Given the description of an element on the screen output the (x, y) to click on. 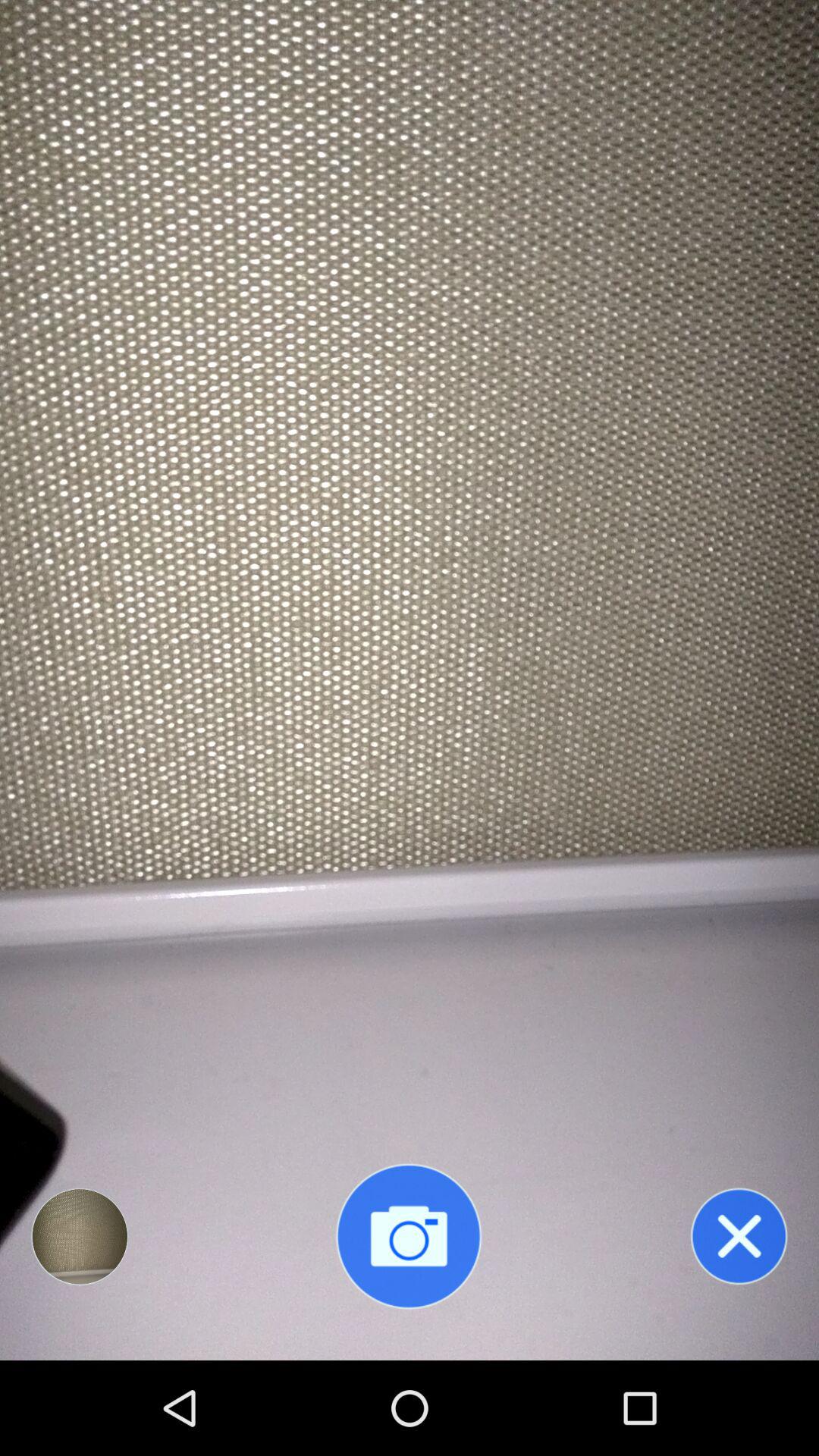
turn on front camera (408, 1236)
